Given the description of an element on the screen output the (x, y) to click on. 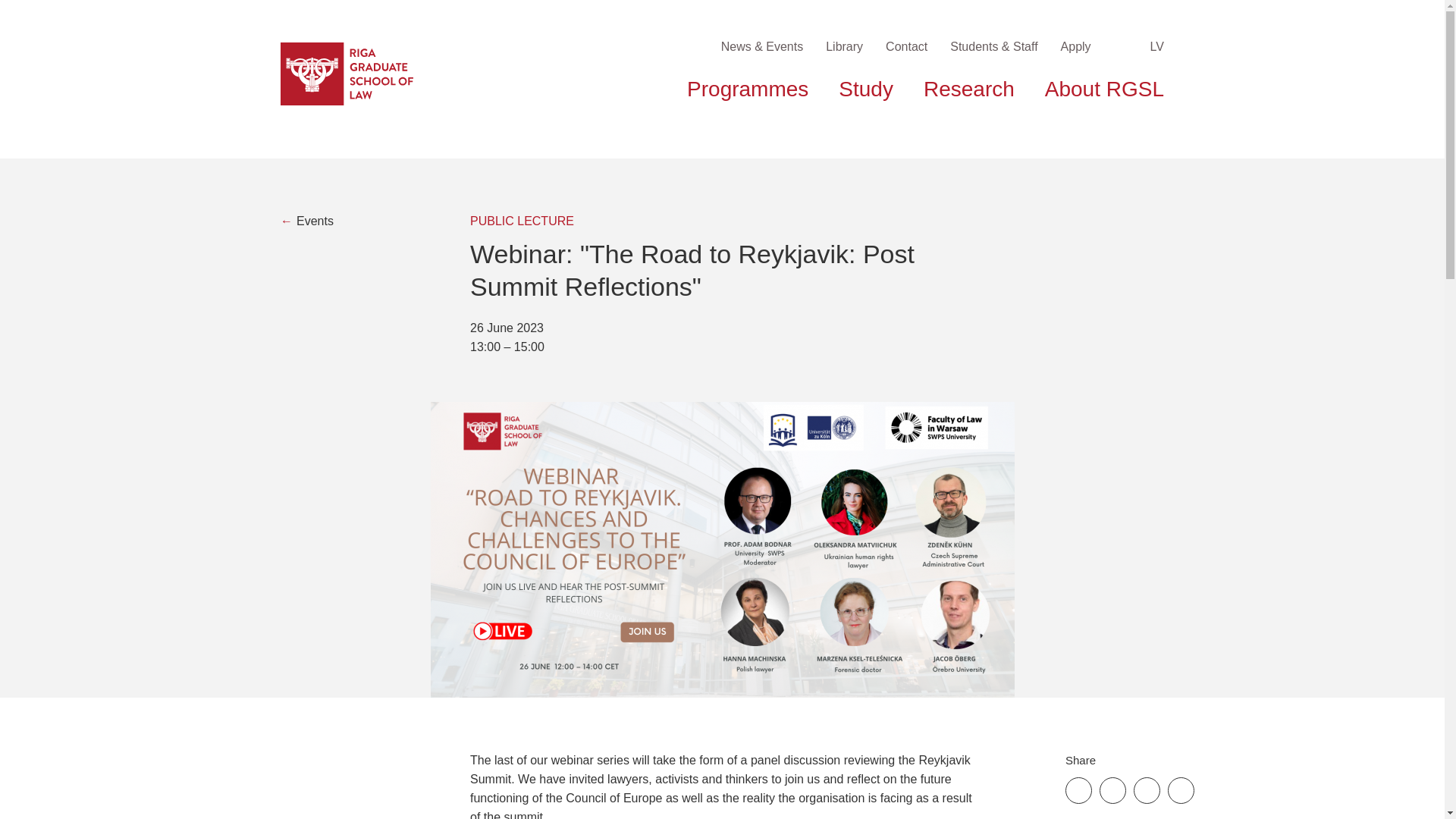
Library (844, 46)
Apply (1075, 46)
Research (968, 89)
Study (865, 89)
About RGSL (1104, 89)
Contact (906, 46)
Programmes (747, 89)
